Given the description of an element on the screen output the (x, y) to click on. 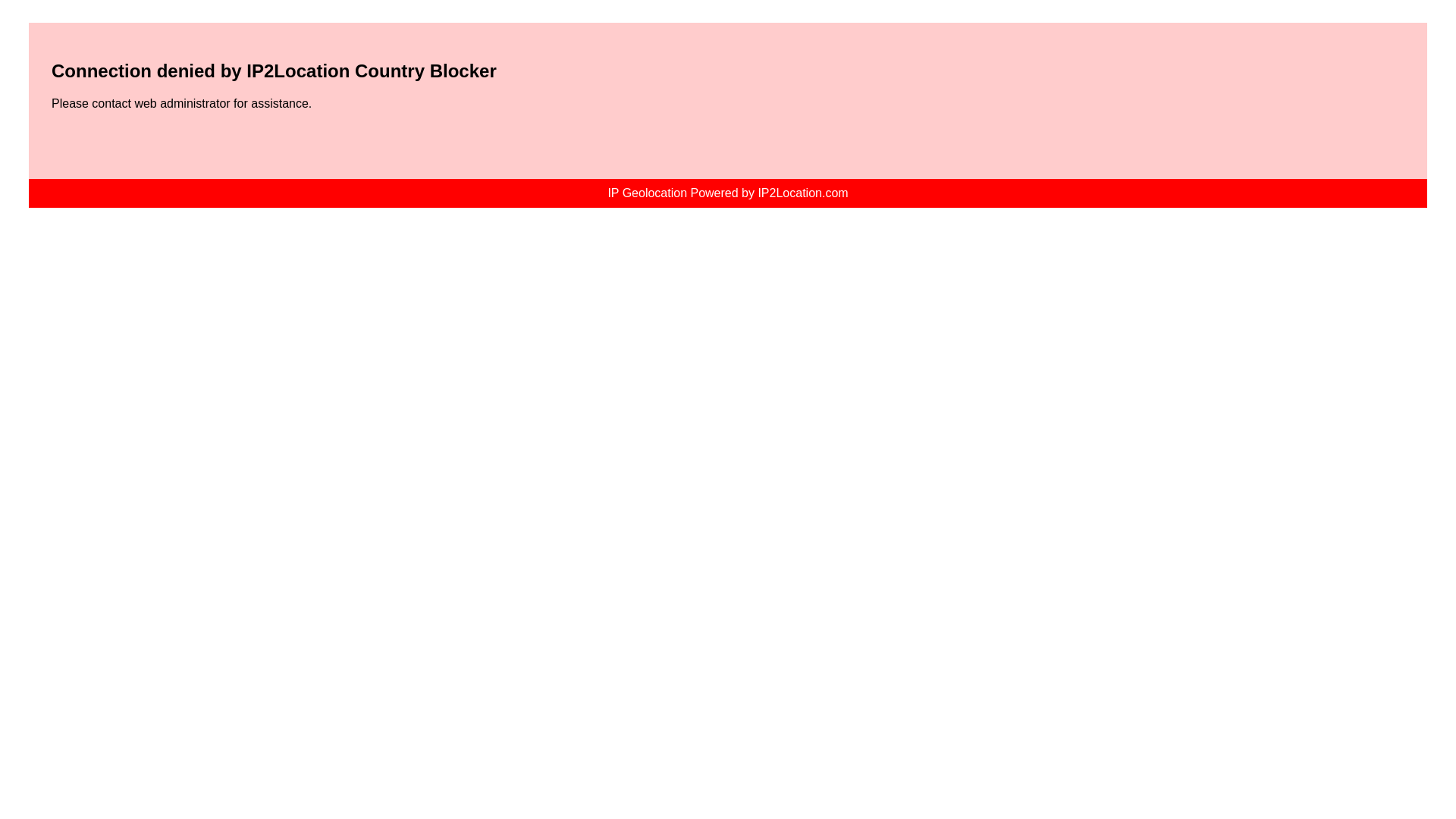
IP Geolocation Powered by IP2Location.com (727, 192)
